Given the description of an element on the screen output the (x, y) to click on. 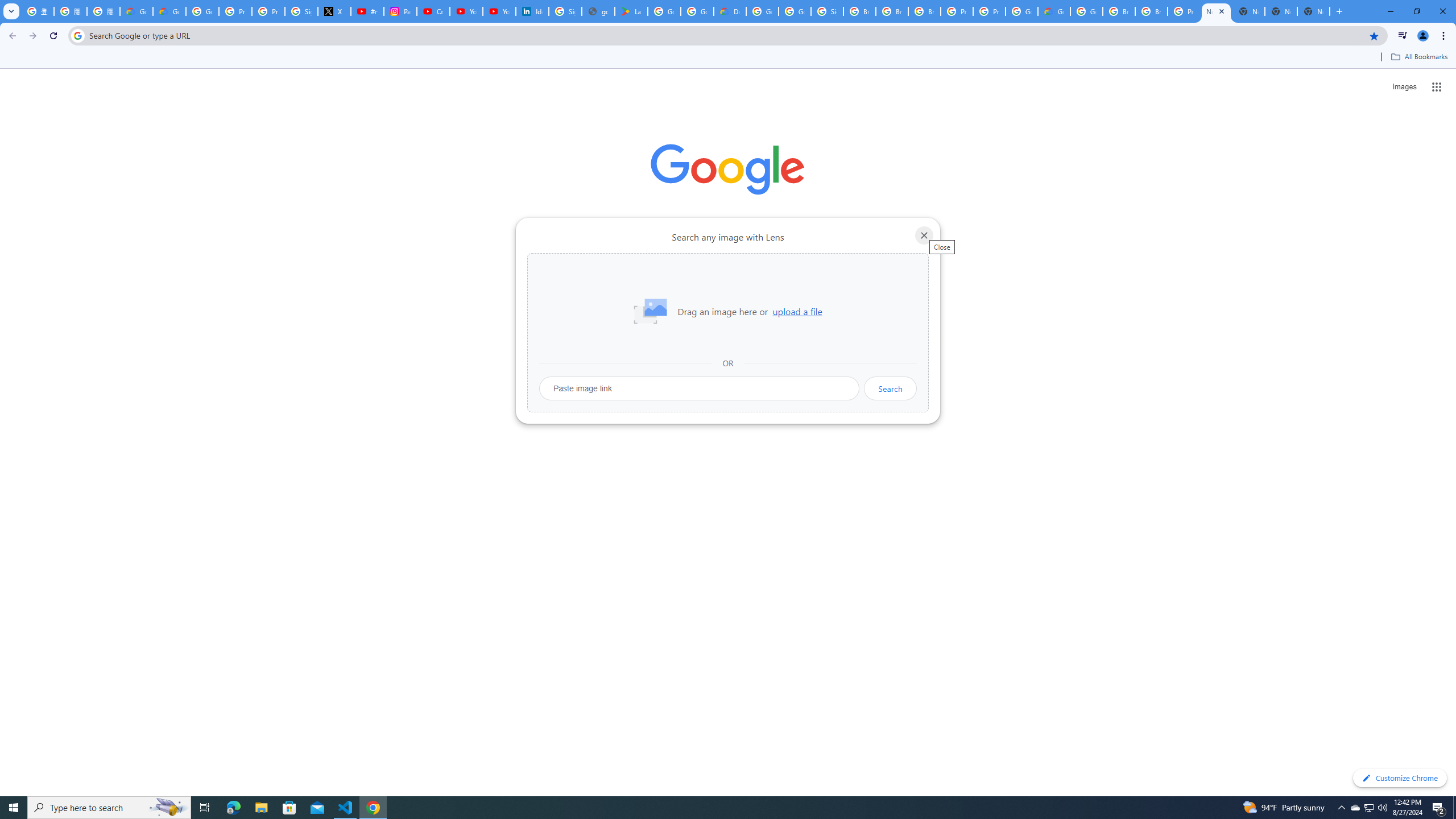
#nbabasketballhighlights - YouTube (367, 11)
Sign in - Google Accounts (564, 11)
Google Workspace - Specific Terms (697, 11)
All Bookmarks (1418, 56)
Browse Chrome as a guest - Computer - Google Chrome Help (1118, 11)
Chrome (1445, 35)
New Tab (1313, 11)
Sign in - Google Accounts (301, 11)
Google Cloud Platform (762, 11)
Browse Chrome as a guest - Computer - Google Chrome Help (1150, 11)
Sign in - Google Accounts (827, 11)
